Given the description of an element on the screen output the (x, y) to click on. 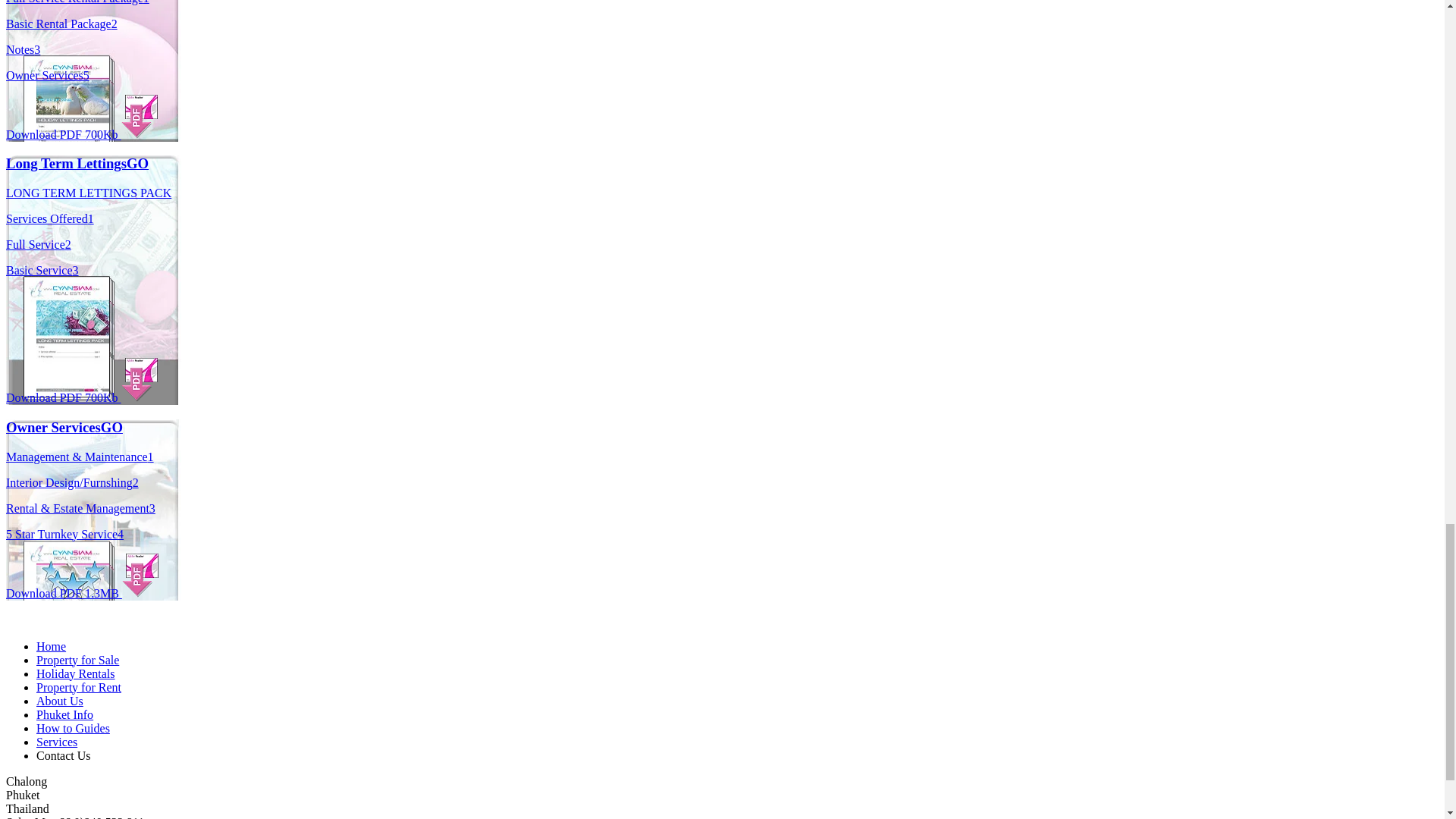
Notes3 (22, 49)
Basic Rental Package2 (61, 23)
Owner Services5 (46, 74)
Full Service Rental Package1 (77, 2)
Download PDF 700Kb (81, 133)
